Given the description of an element on the screen output the (x, y) to click on. 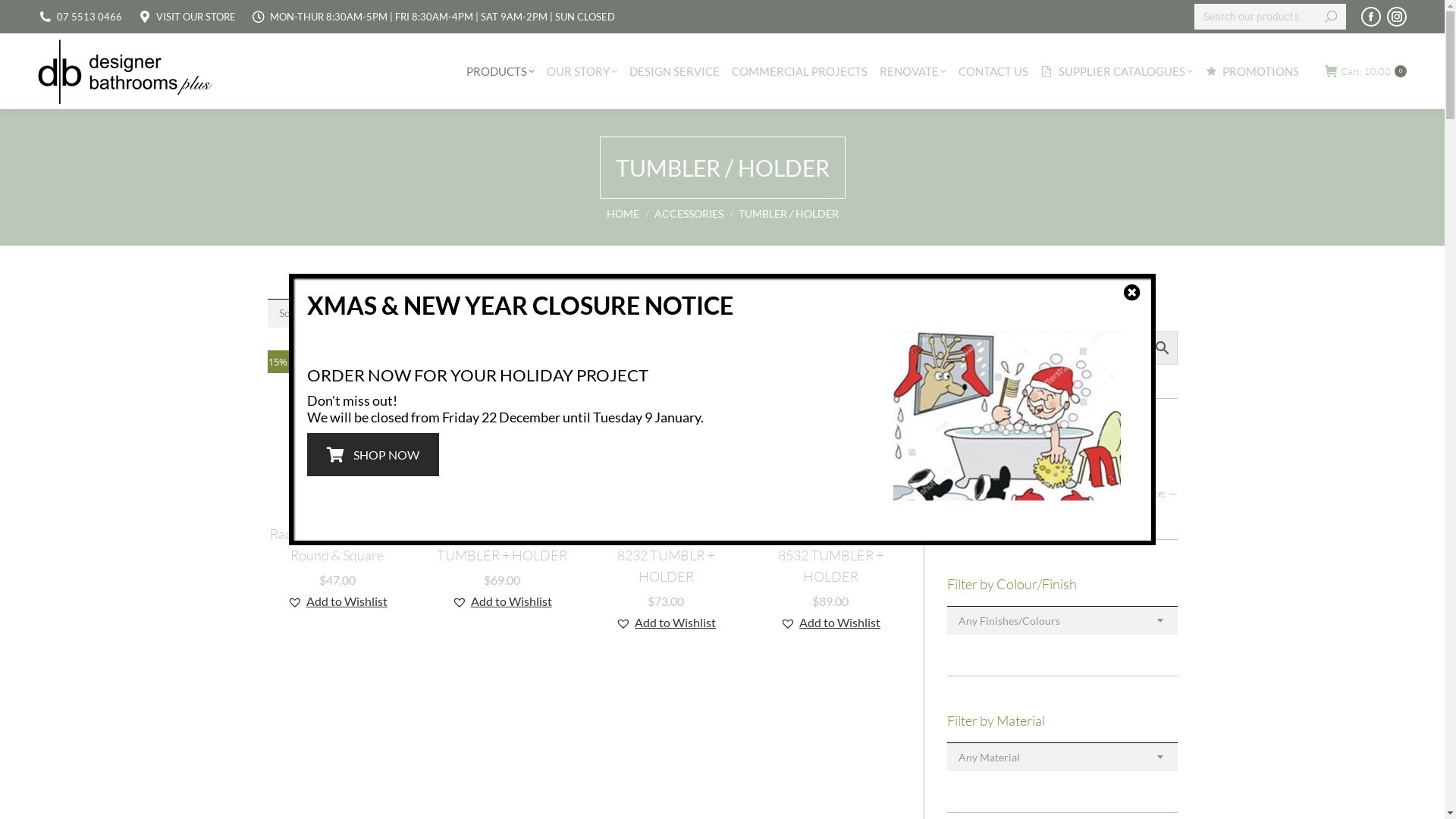
PROMOTIONS Element type: text (1251, 71)
VISIT OUR STORE Element type: text (195, 16)
RENOVATE Element type: text (912, 71)
SHOP NOW Element type: text (373, 454)
07 5513 0466 Element type: text (89, 16)
DESIGN SERVICE Element type: text (674, 71)
Add to Wishlist Element type: text (337, 600)
HOME Element type: text (622, 212)
Facebook page opens in new window Element type: hover (1370, 16)
BATHROOM BUTLER TUMBLER + HOLDER Element type: text (501, 544)
PRODUCTS Element type: text (500, 71)
Add to Wishlist Element type: text (665, 500)
Add to Wishlist Element type: text (665, 622)
OUR STORY Element type: text (581, 71)
santa-bath Element type: hover (1006, 415)
Add to Wishlist Element type: text (337, 500)
CONTACT US Element type: text (993, 71)
BATHROOM BUTLER 8532 TUMBLER + HOLDER Element type: text (830, 554)
Add to Wishlist Element type: text (501, 500)
BATHROOM BUTLER 8232 TUMBLR + HOLDER Element type: text (665, 554)
ACCESSORIES Element type: text (687, 212)
Instagram page opens in new window Element type: hover (1396, 16)
COMMERCIAL PROJECTS Element type: text (799, 71)
Radii Tumbler & Holder Round & Square Element type: text (336, 544)
15% OFF @ CHECKOUT Element type: text (336, 420)
Add to Wishlist Element type: text (501, 600)
Search form Element type: hover (1270, 16)
Filter Element type: text (967, 494)
Go! Element type: text (23, 16)
SUPPLIER CATALOGUES Element type: text (1116, 71)
Add to Wishlist Element type: text (830, 500)
Add to Wishlist Element type: text (830, 622)
Cart: 
$0.00
0 Element type: text (1365, 71)
